Given the description of an element on the screen output the (x, y) to click on. 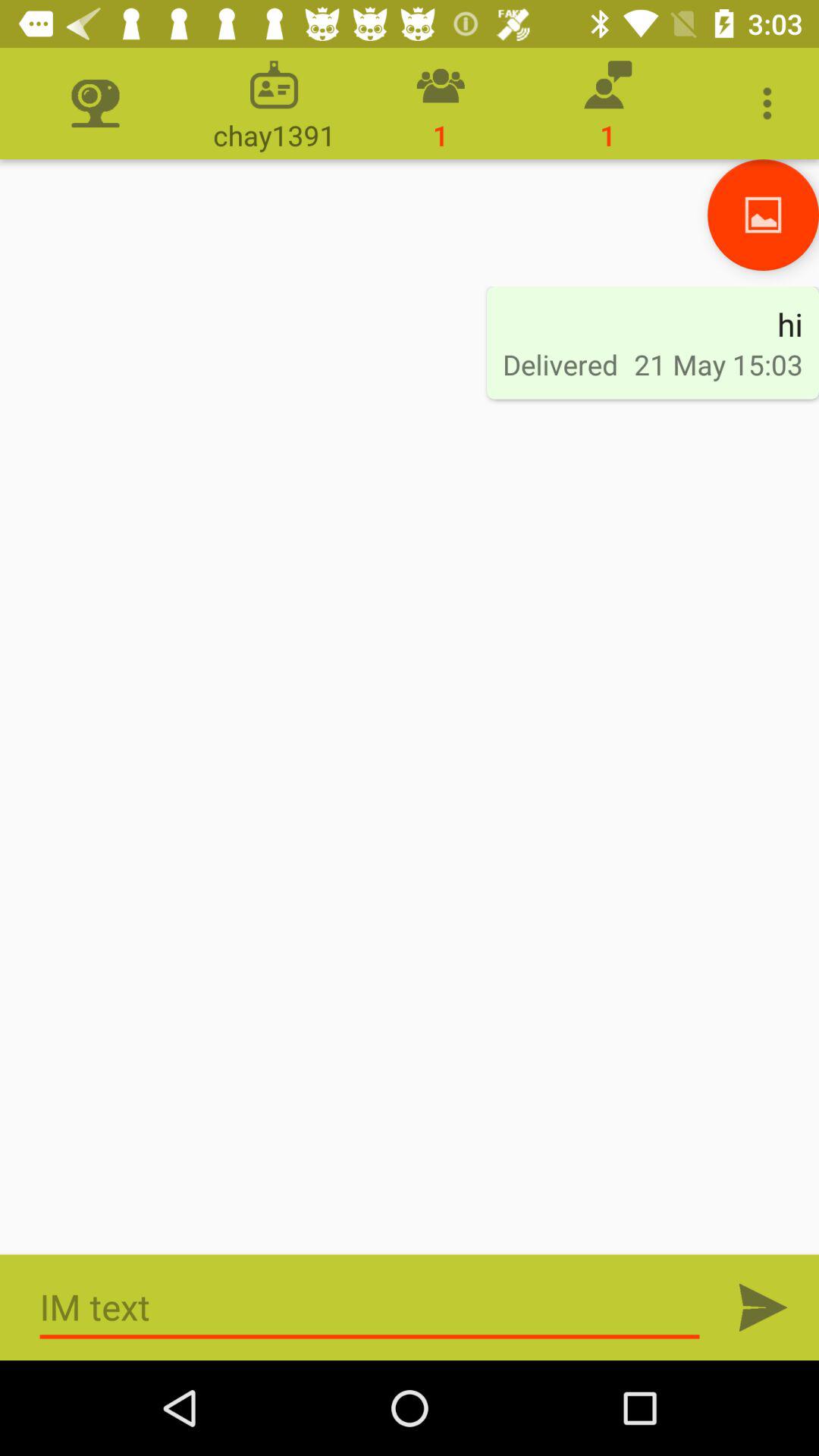
fill in the answer and send (369, 1307)
